Given the description of an element on the screen output the (x, y) to click on. 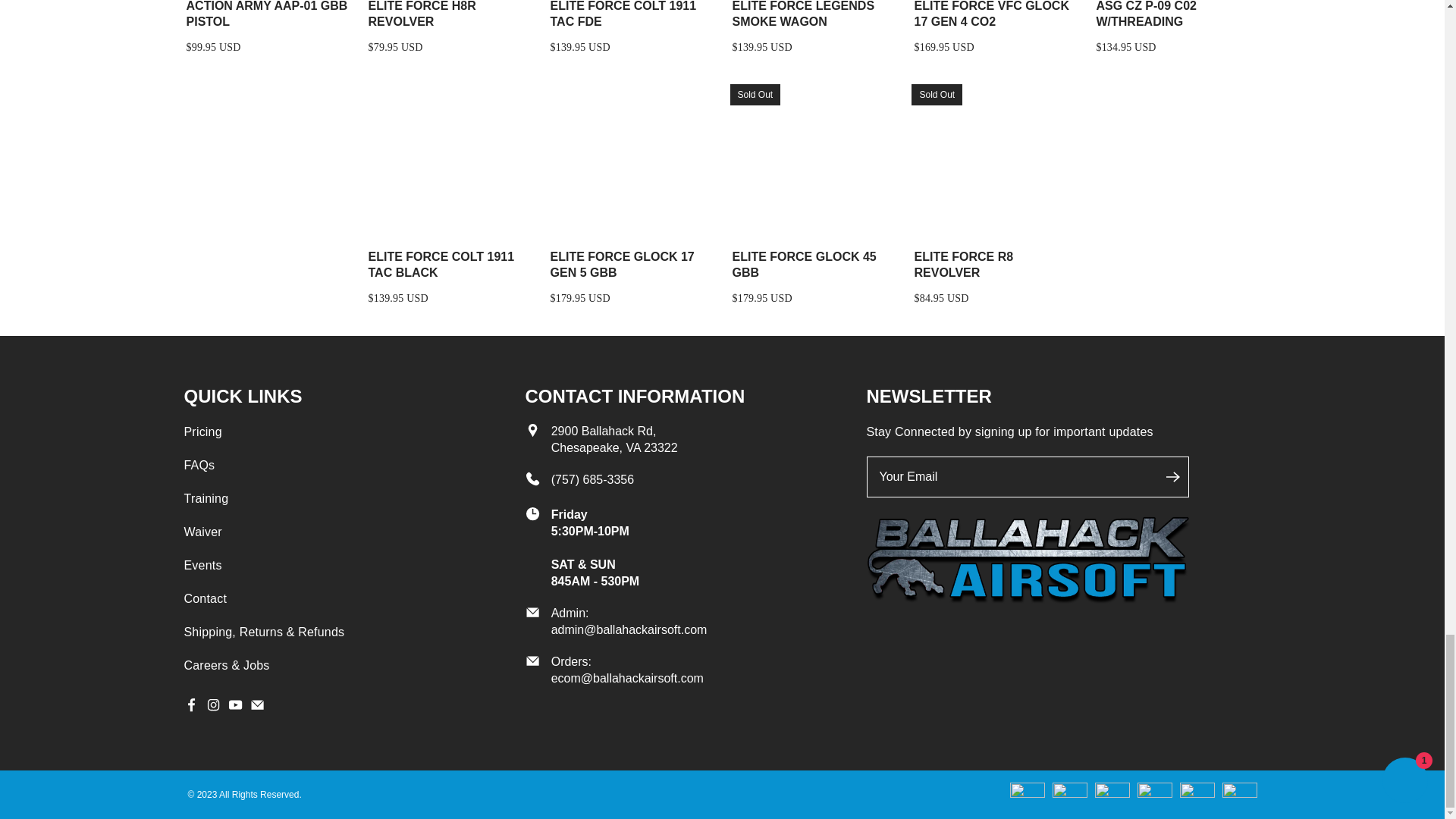
Email Ballahack Airsoft  (257, 707)
Ballahack Airsoft  on Facebook (190, 707)
Ballahack Airsoft  on Instagram (213, 707)
Ballahack Airsoft  on YouTube (235, 707)
